Given the description of an element on the screen output the (x, y) to click on. 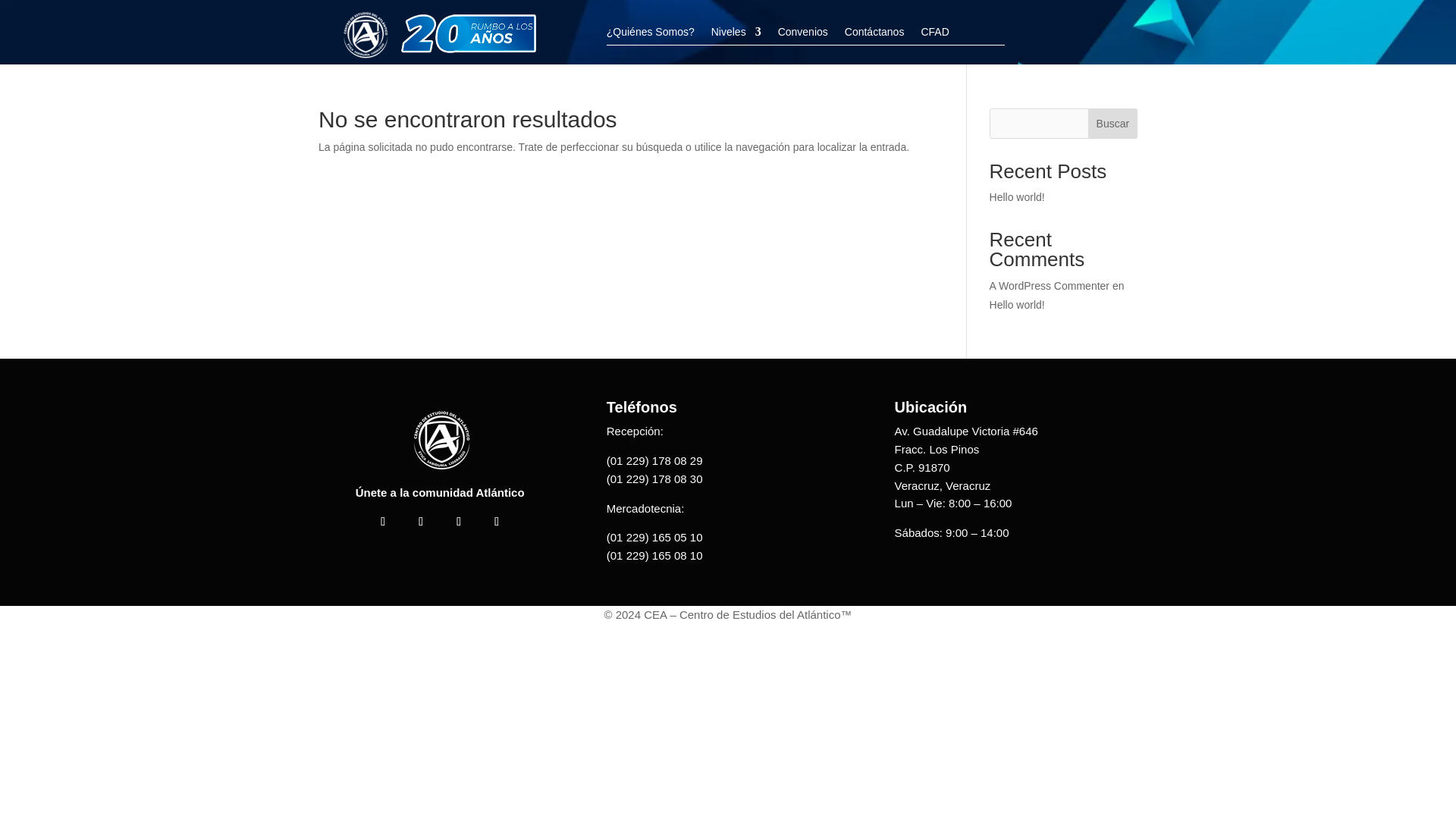
Niveles (736, 35)
Seguir en Youtube (458, 521)
A WordPress Commenter (1049, 285)
Hello world! (1017, 304)
Buscar (1112, 123)
Hello world! (1017, 196)
Seguir en Instagram (420, 521)
Seguir en Facebook (382, 521)
CFAD (934, 35)
Convenios (802, 35)
